Given the description of an element on the screen output the (x, y) to click on. 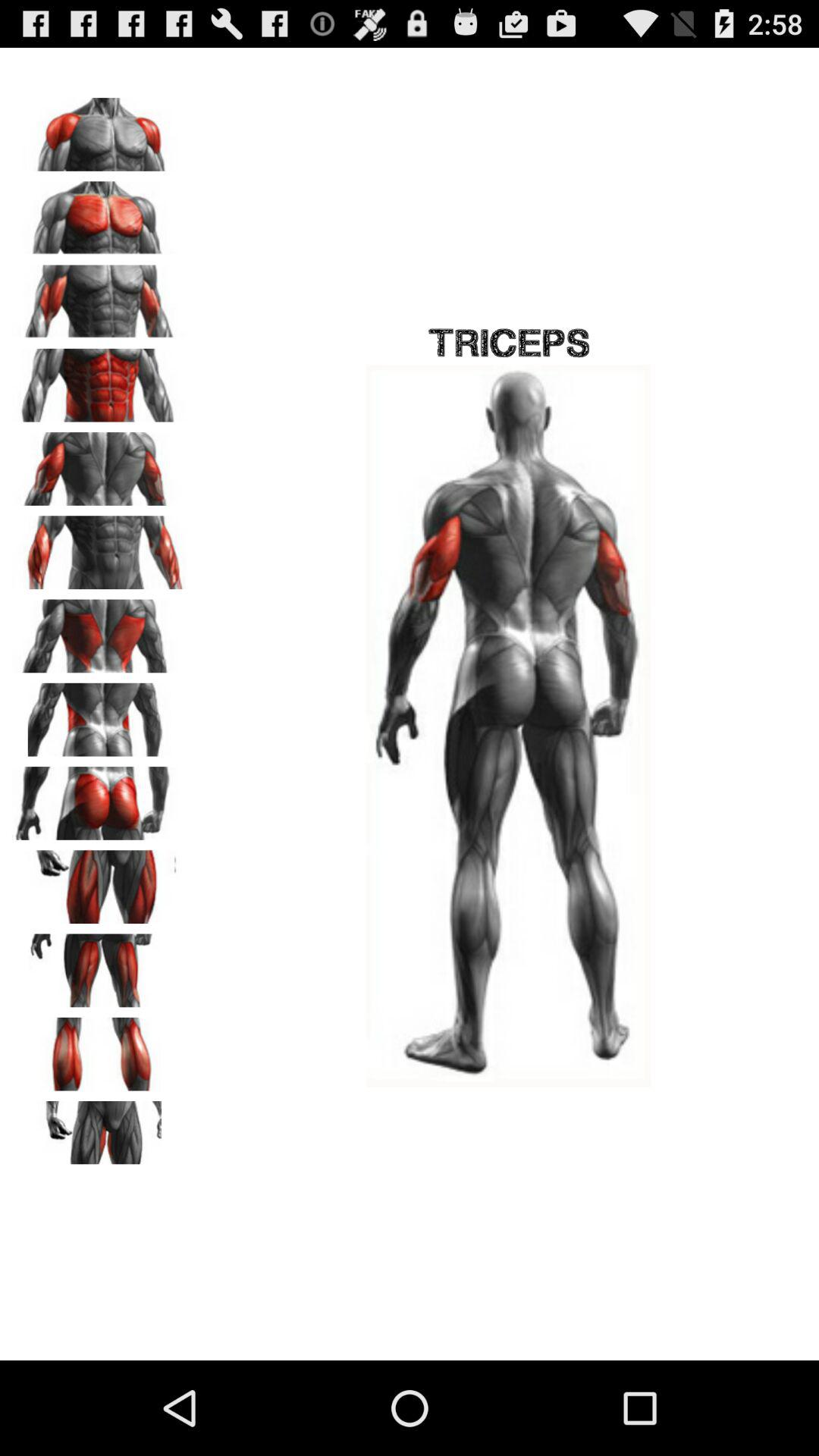
calves (99, 1048)
